Given the description of an element on the screen output the (x, y) to click on. 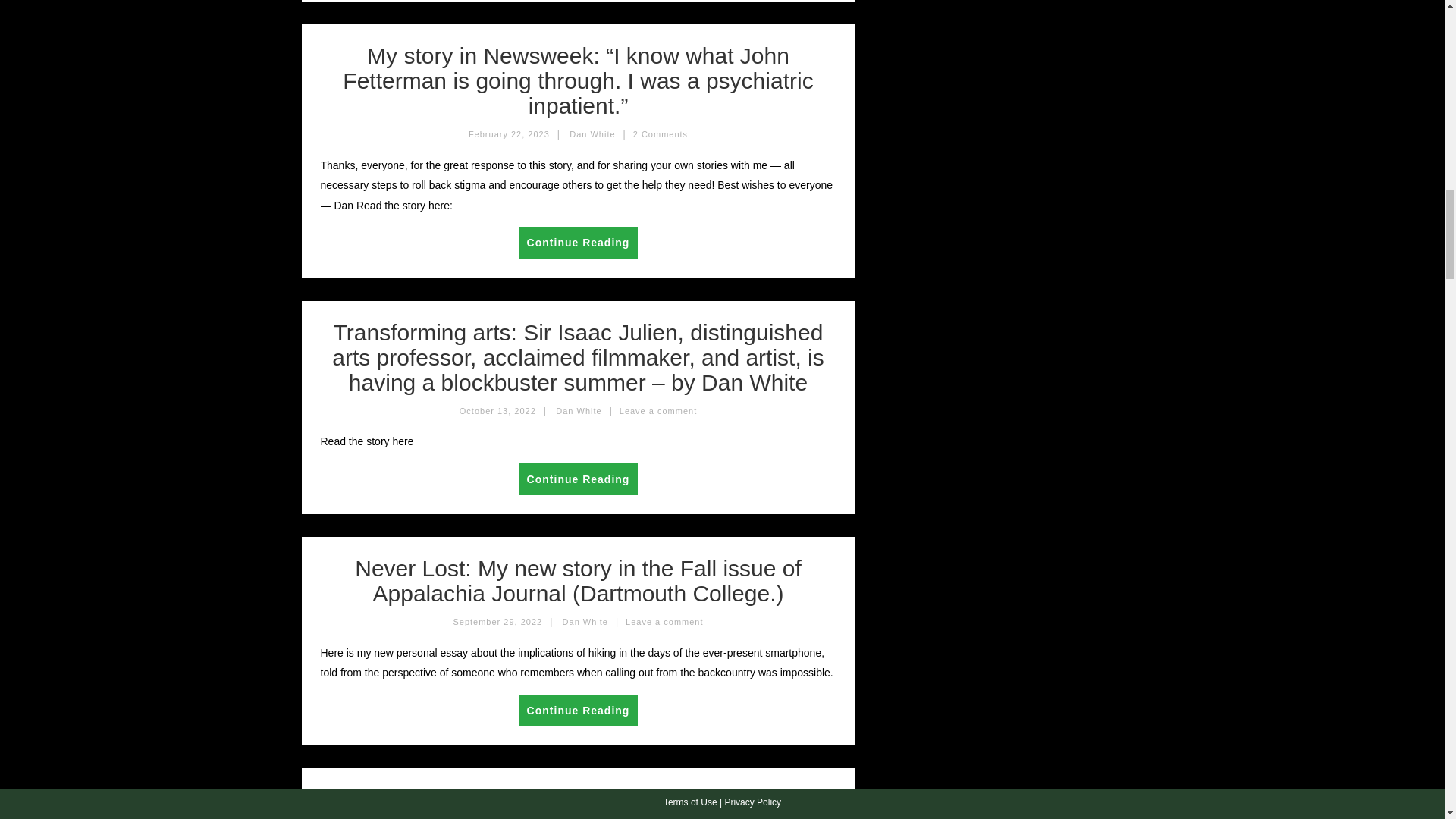
Continue Reading (578, 242)
February 22, 2023 (509, 133)
2 Comments (660, 133)
Dan White (591, 133)
Dan White (578, 410)
Continue Reading (578, 479)
Leave a comment (664, 621)
September 29, 2022 (496, 621)
October 13, 2022 (497, 410)
Leave a comment (658, 410)
Dan White (585, 621)
Continue Reading (578, 710)
